Given the description of an element on the screen output the (x, y) to click on. 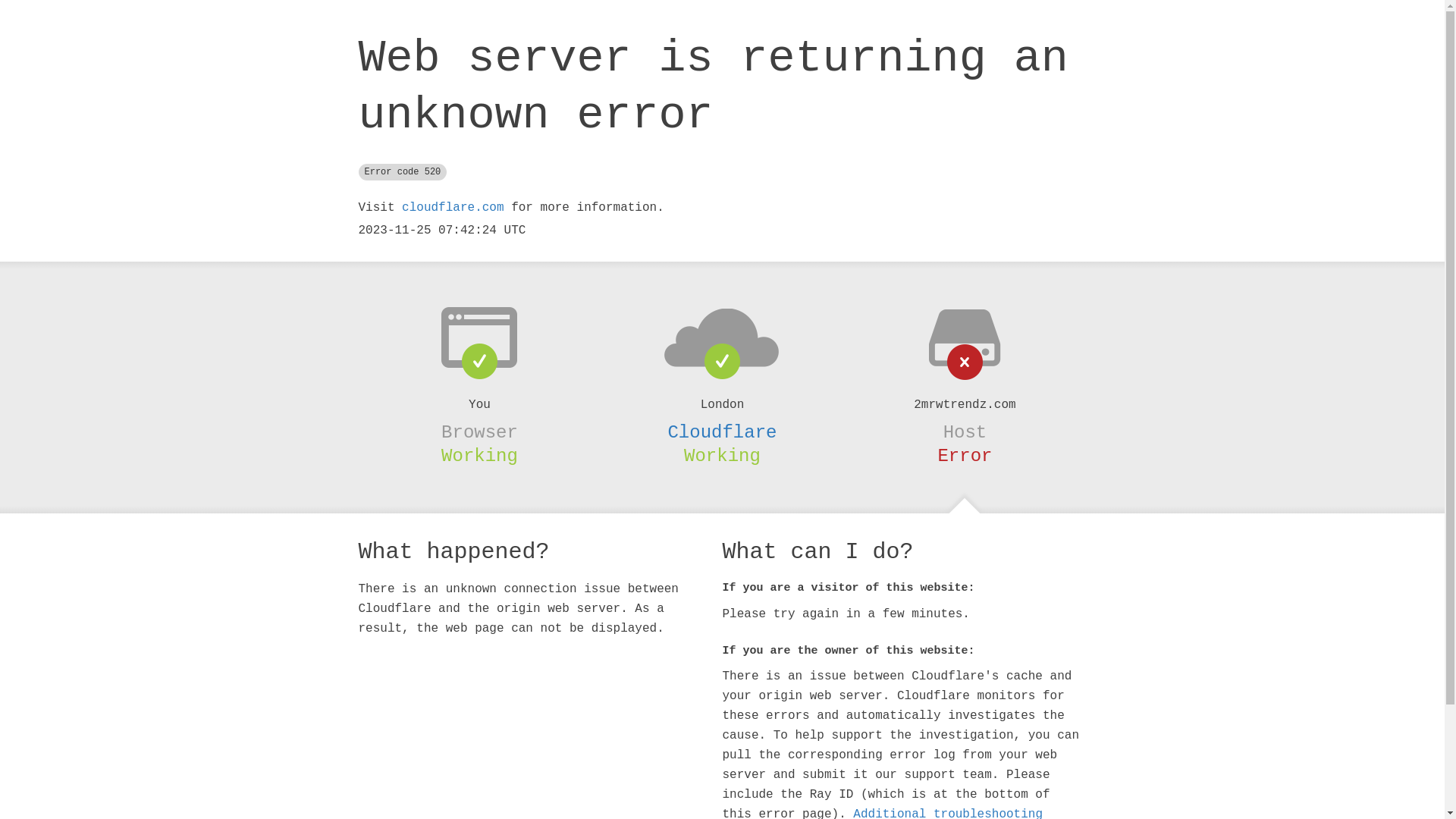
cloudflare.com Element type: text (452, 207)
Cloudflare Element type: text (721, 432)
